Given the description of an element on the screen output the (x, y) to click on. 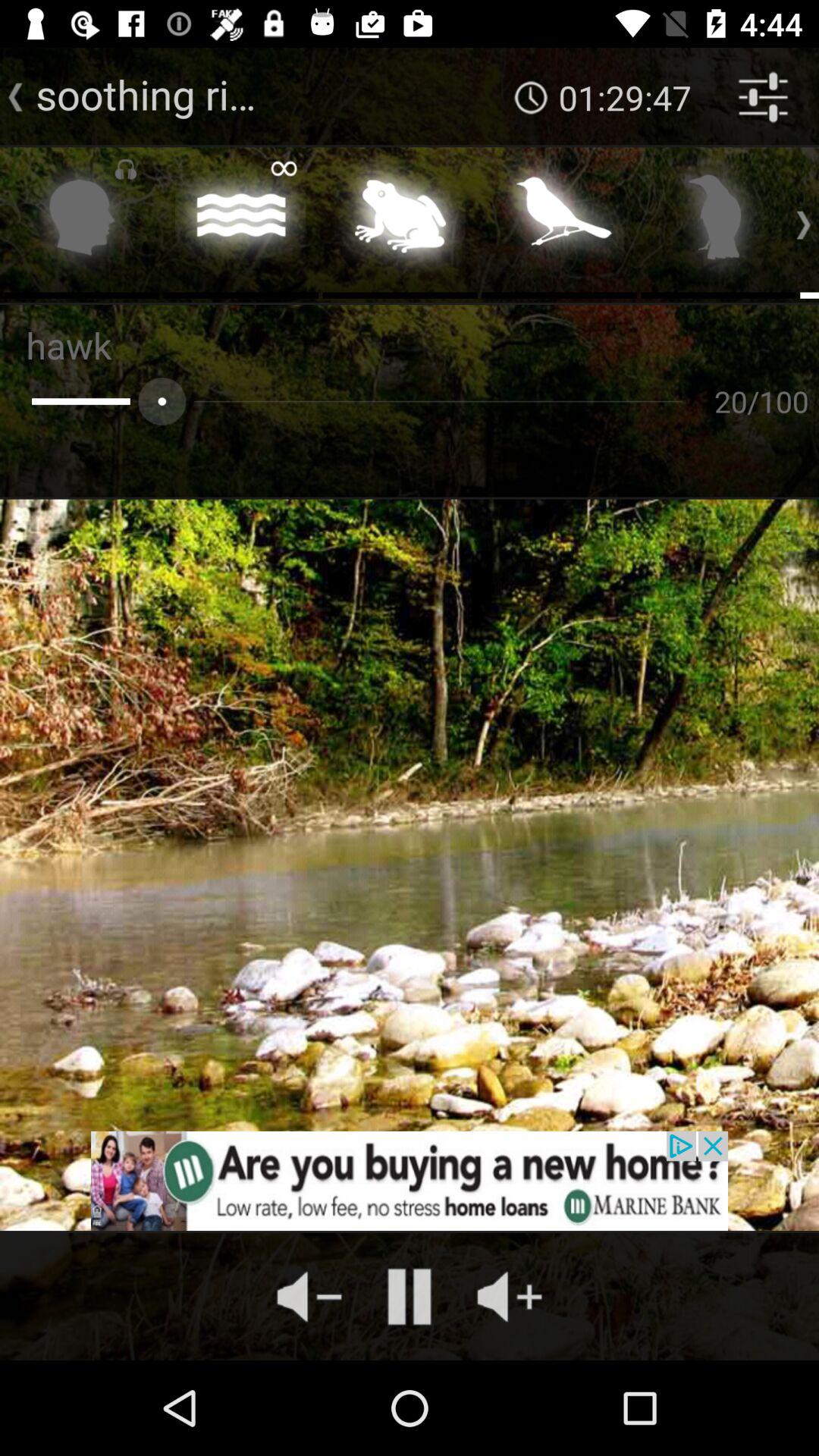
play bird sounds (718, 221)
